Given the description of an element on the screen output the (x, y) to click on. 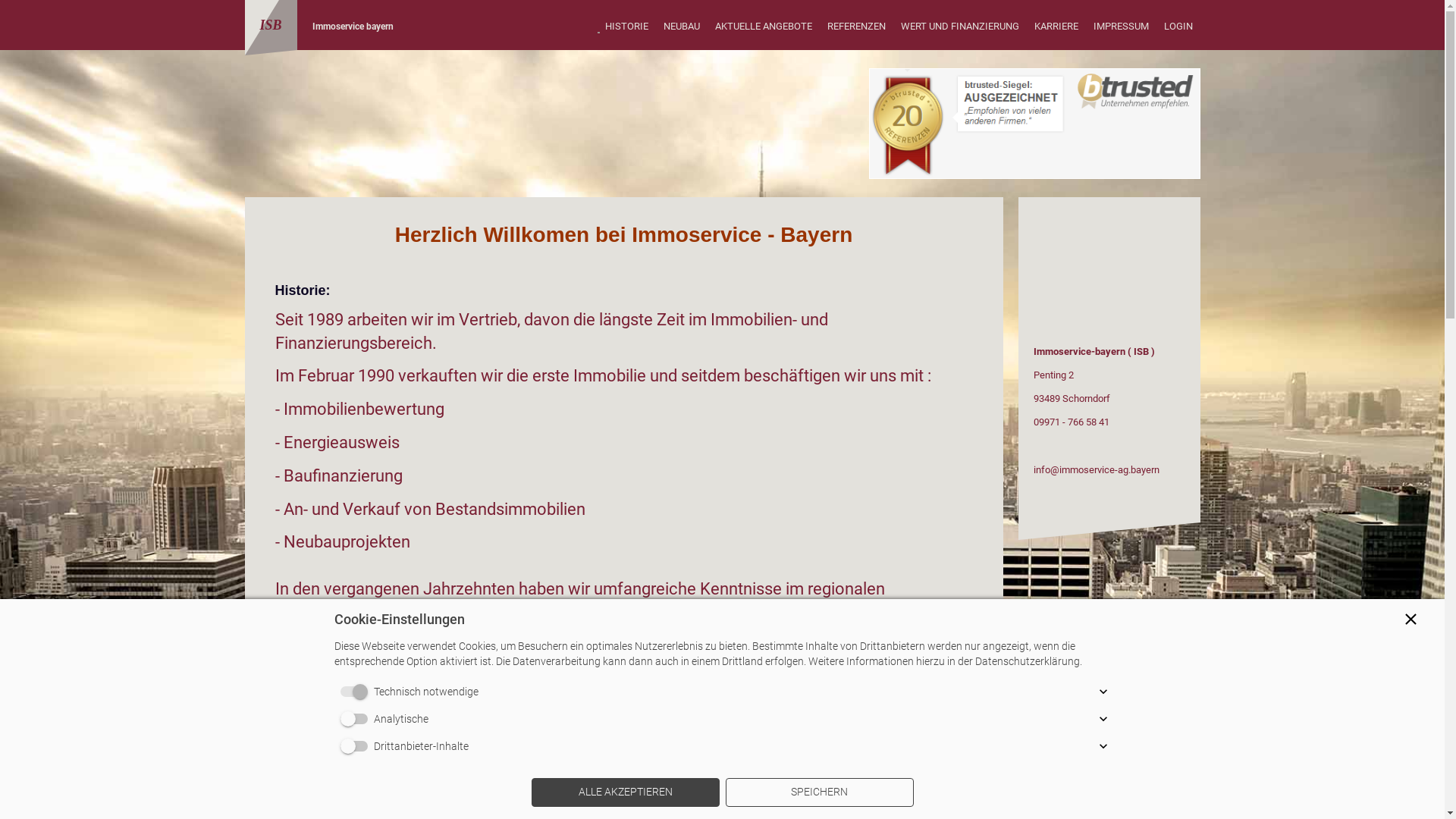
NEUBAU Element type: text (680, 26)
AKTUELLE ANGEBOTE Element type: text (762, 26)
REFERENZEN Element type: text (855, 26)
ALLE AKZEPTIEREN Element type: text (624, 792)
IMPRESSUM Element type: text (1120, 26)
WERT UND FINANZIERUNG Element type: text (959, 26)
KARRIERE Element type: text (1055, 26)
SPEICHERN Element type: text (818, 792)
LOGIN Element type: text (1177, 26)
HISTORIE Element type: text (626, 26)
